Given the description of an element on the screen output the (x, y) to click on. 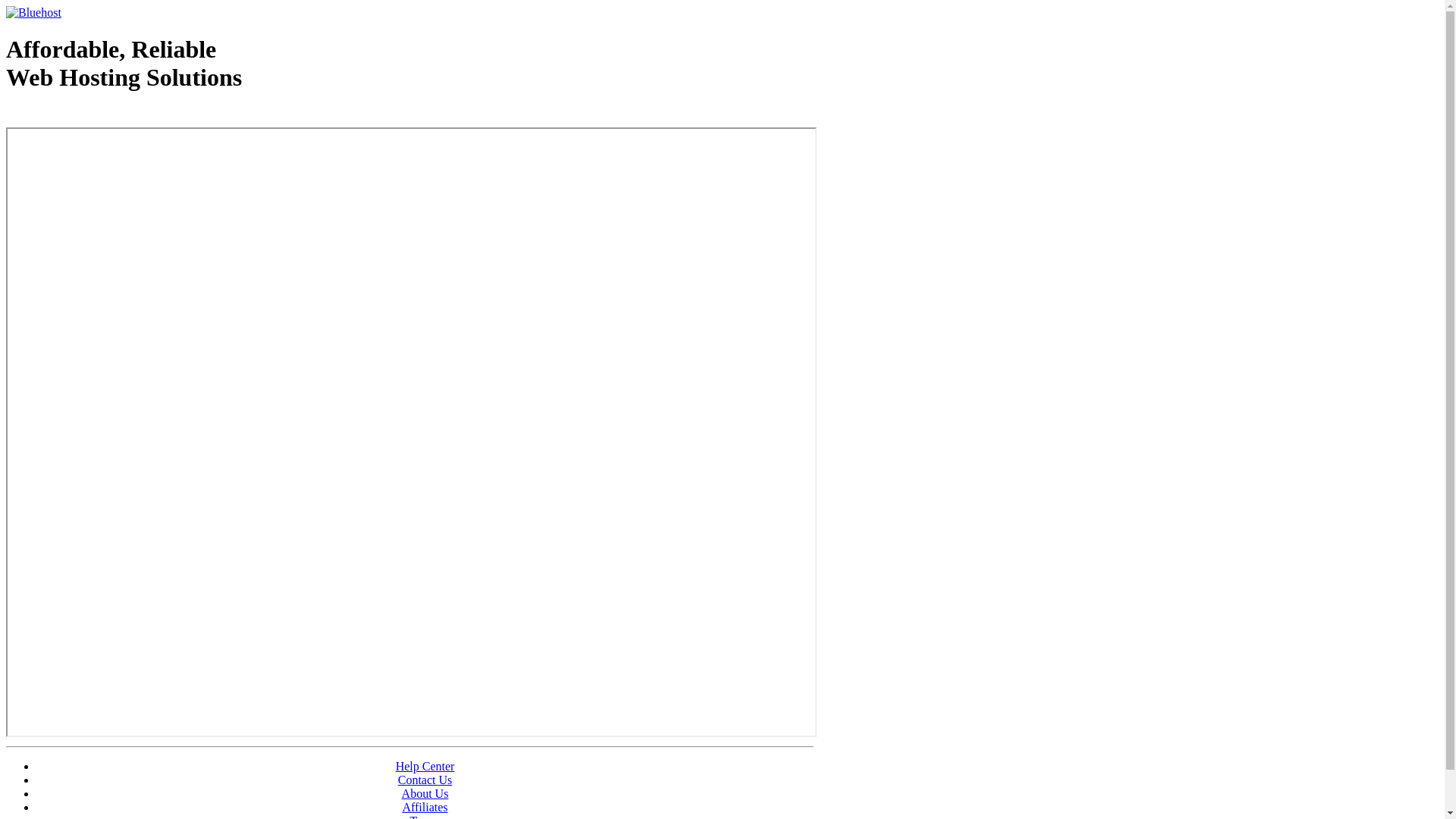
Affiliates Element type: text (424, 806)
Web Hosting - courtesy of www.bluehost.com Element type: text (94, 115)
Help Center Element type: text (425, 765)
Contact Us Element type: text (425, 779)
About Us Element type: text (424, 793)
